Given the description of an element on the screen output the (x, y) to click on. 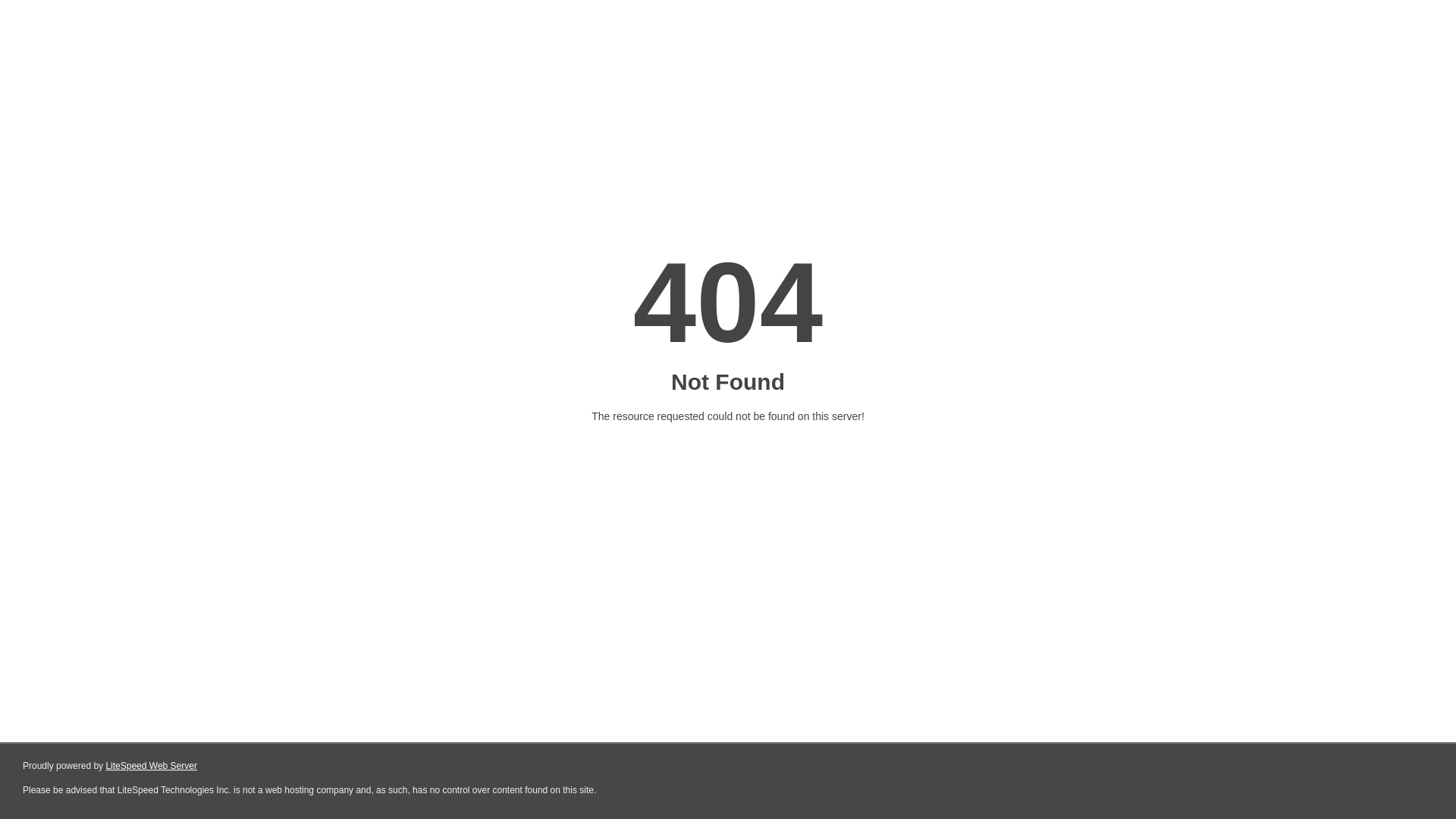
LiteSpeed Web Server Element type: text (151, 765)
